Given the description of an element on the screen output the (x, y) to click on. 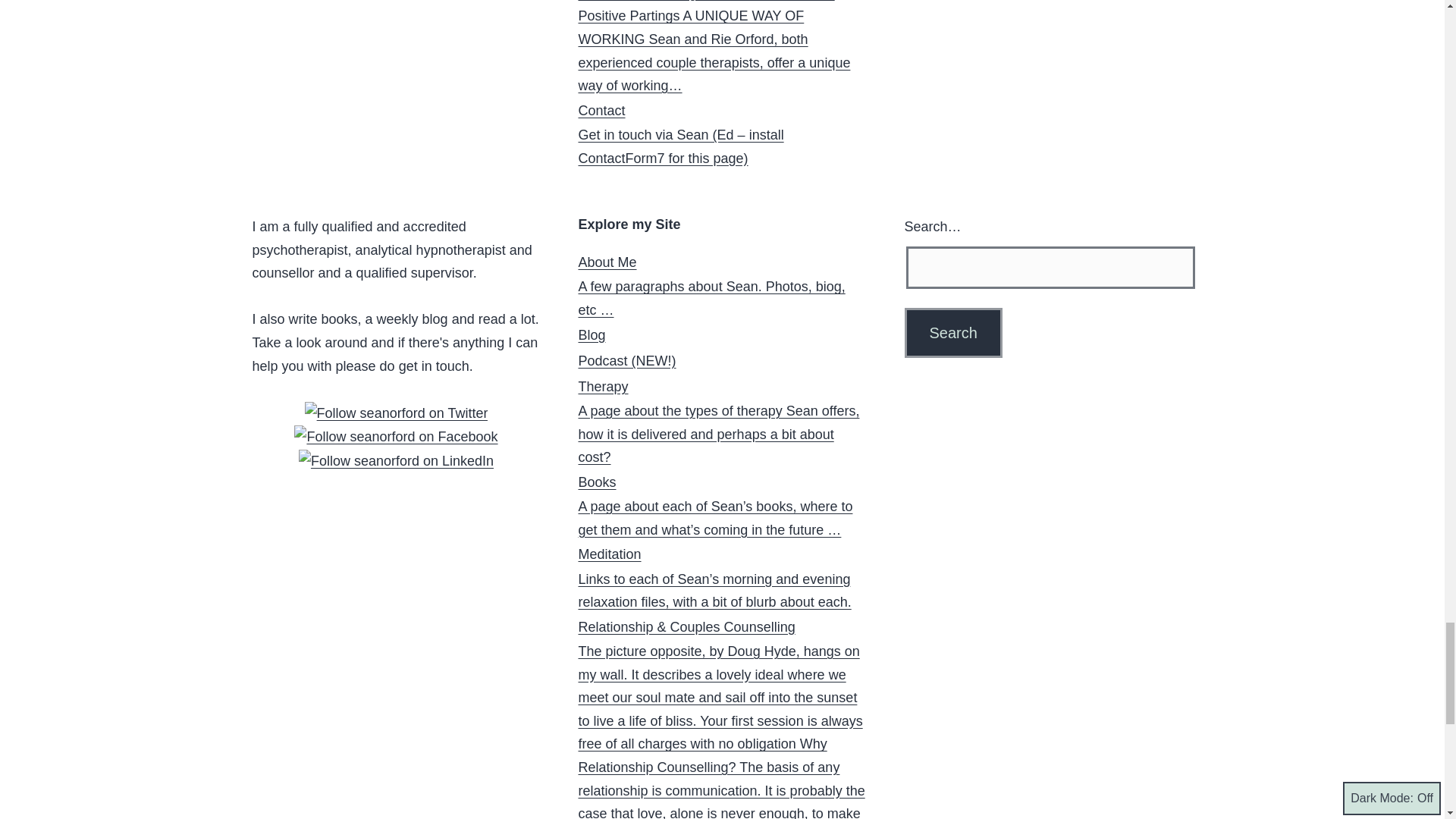
Search (952, 332)
Search (952, 332)
Blog (591, 335)
